Given the description of an element on the screen output the (x, y) to click on. 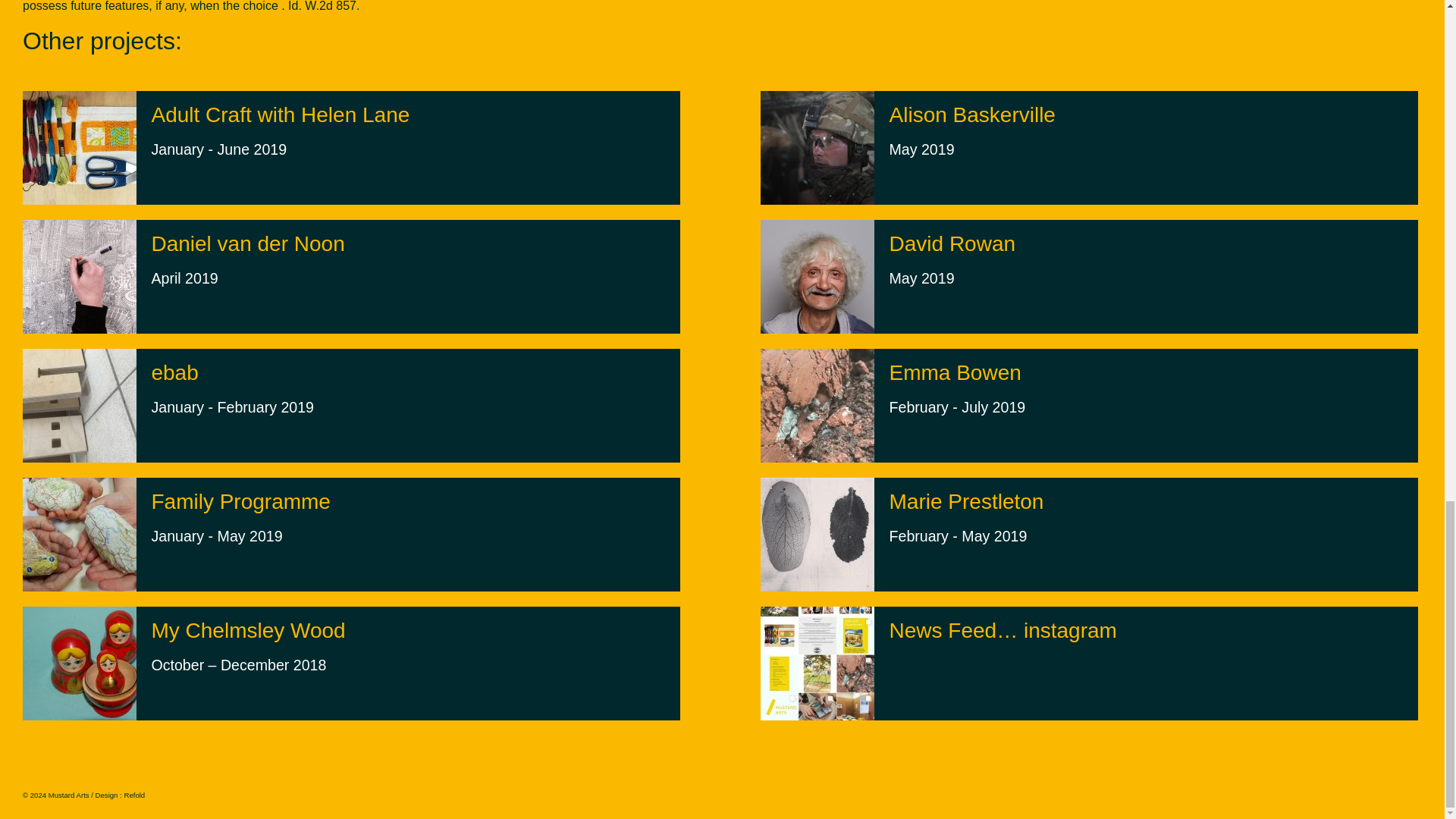
Refold (966, 518)
